Given the description of an element on the screen output the (x, y) to click on. 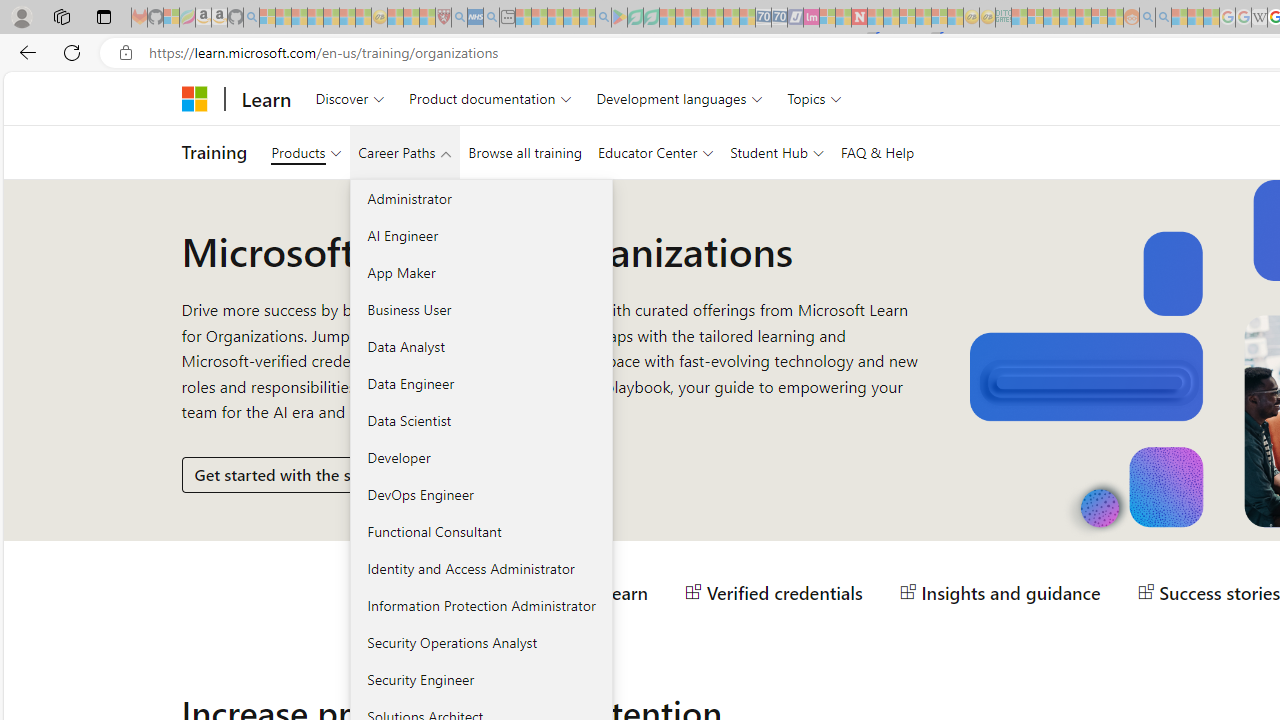
Bluey: Let's Play! - Apps on Google Play - Sleeping (619, 17)
Data Analyst (480, 346)
FAQ & Help (877, 152)
Security Engineer (480, 678)
utah sues federal government - Search - Sleeping (491, 17)
Administrator (480, 198)
